Given the description of an element on the screen output the (x, y) to click on. 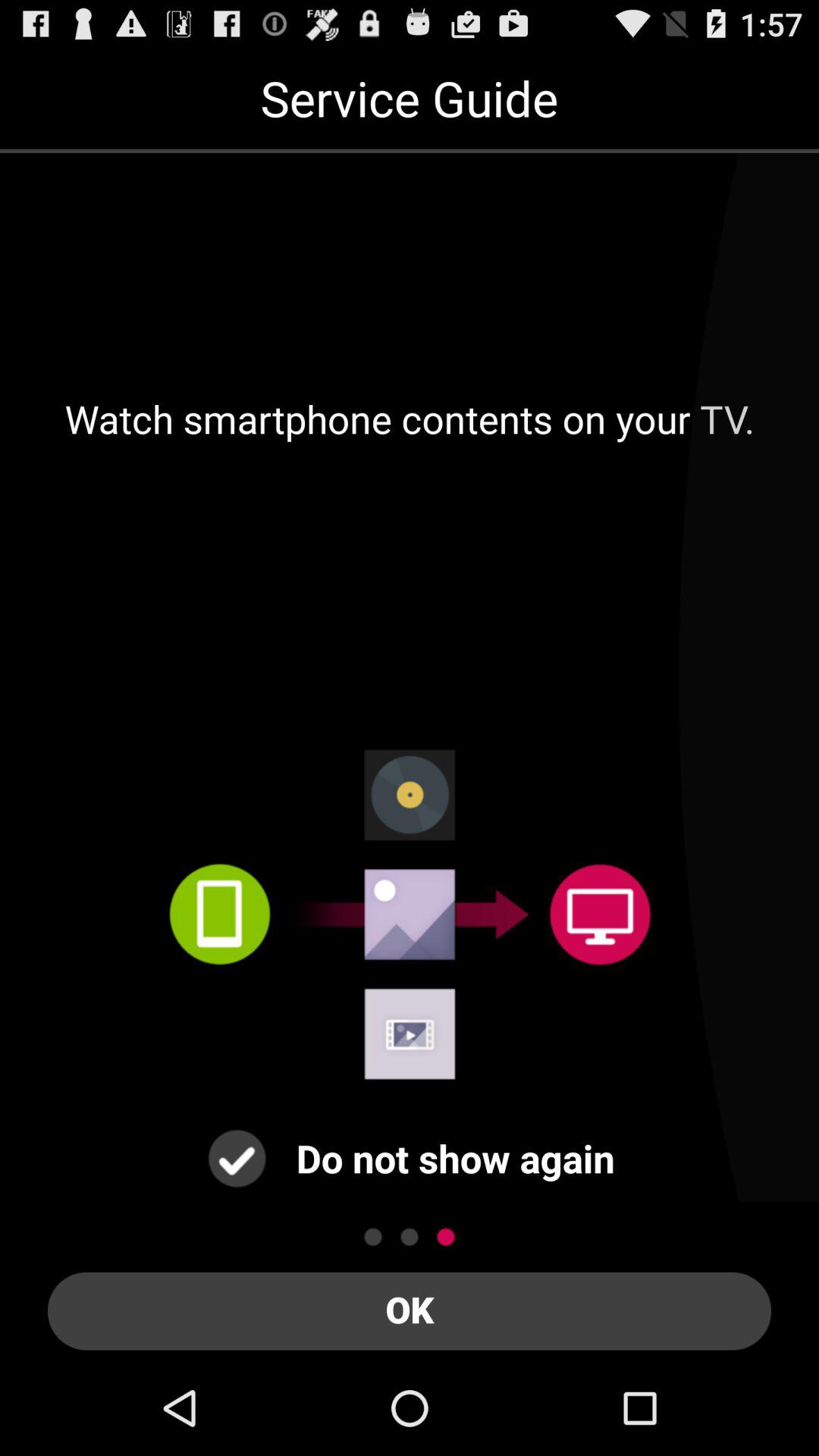
select the ok item (409, 1311)
